Given the description of an element on the screen output the (x, y) to click on. 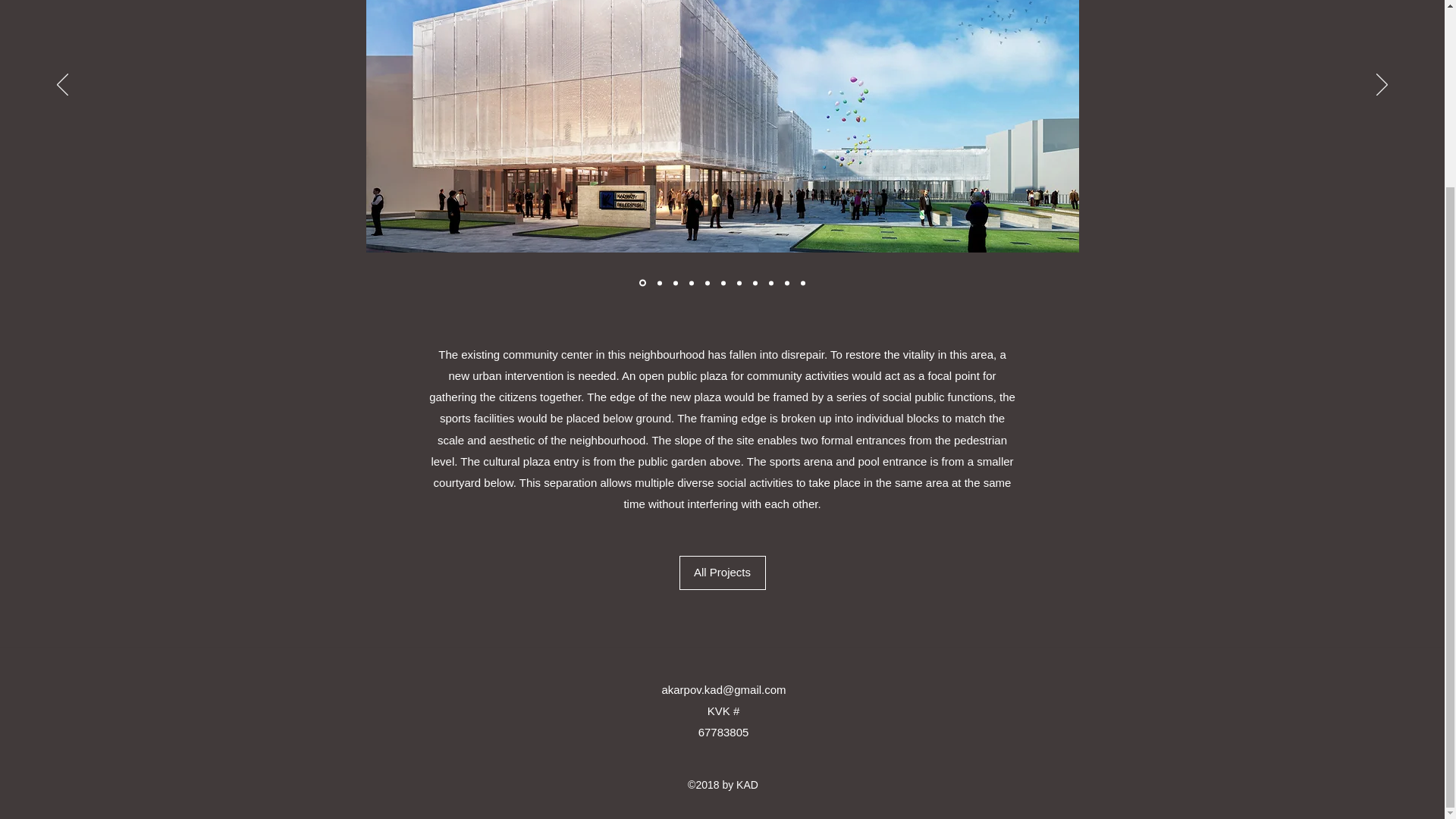
All Projects (722, 572)
